Given the description of an element on the screen output the (x, y) to click on. 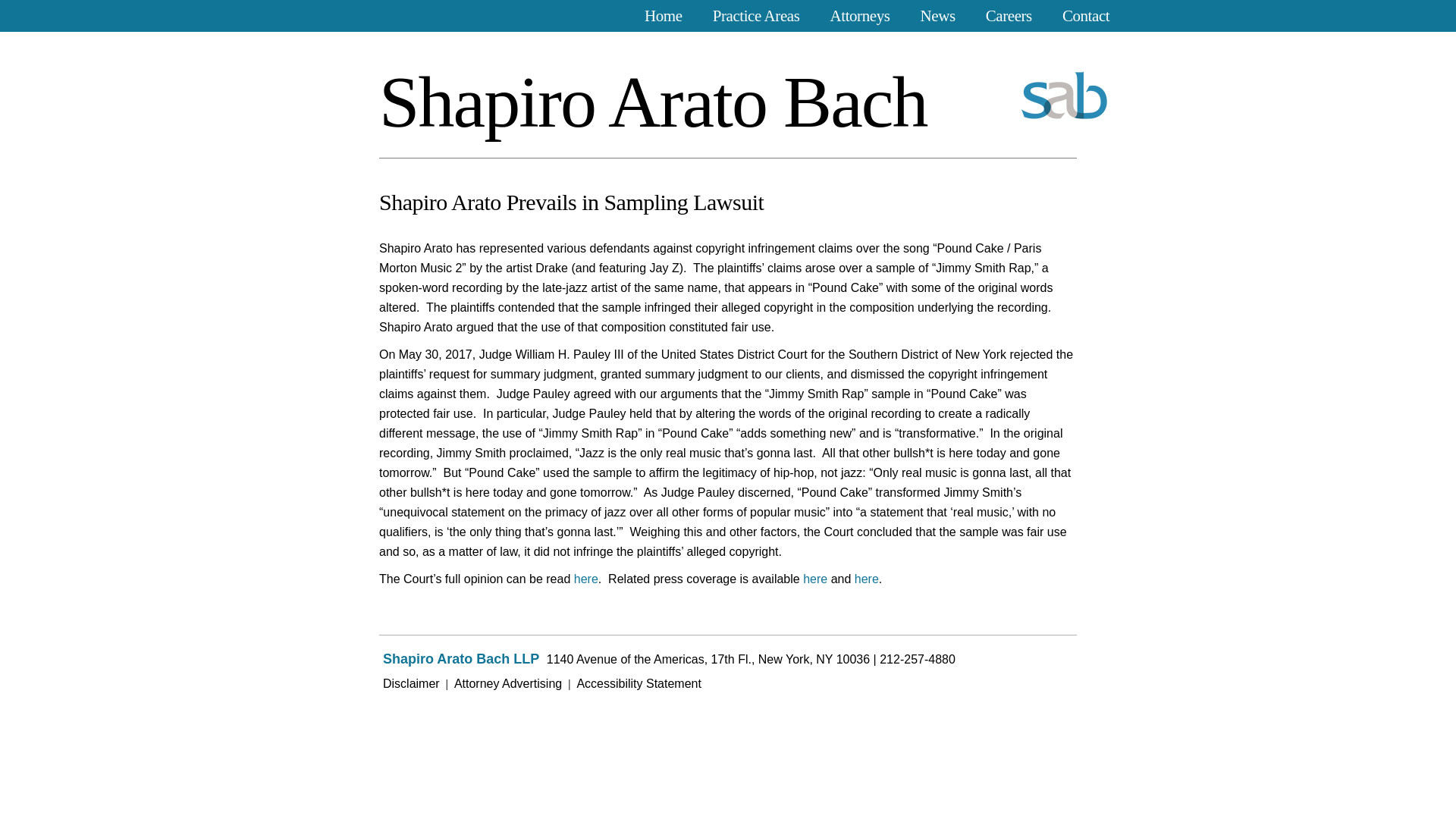
here (866, 578)
Contact (1085, 16)
News (937, 16)
Practice Areas (756, 16)
Attorney Advertising (508, 683)
Home (663, 16)
Careers (1008, 16)
Shapiro Arato Bach (652, 101)
here (585, 578)
Attorneys (859, 16)
